Given the description of an element on the screen output the (x, y) to click on. 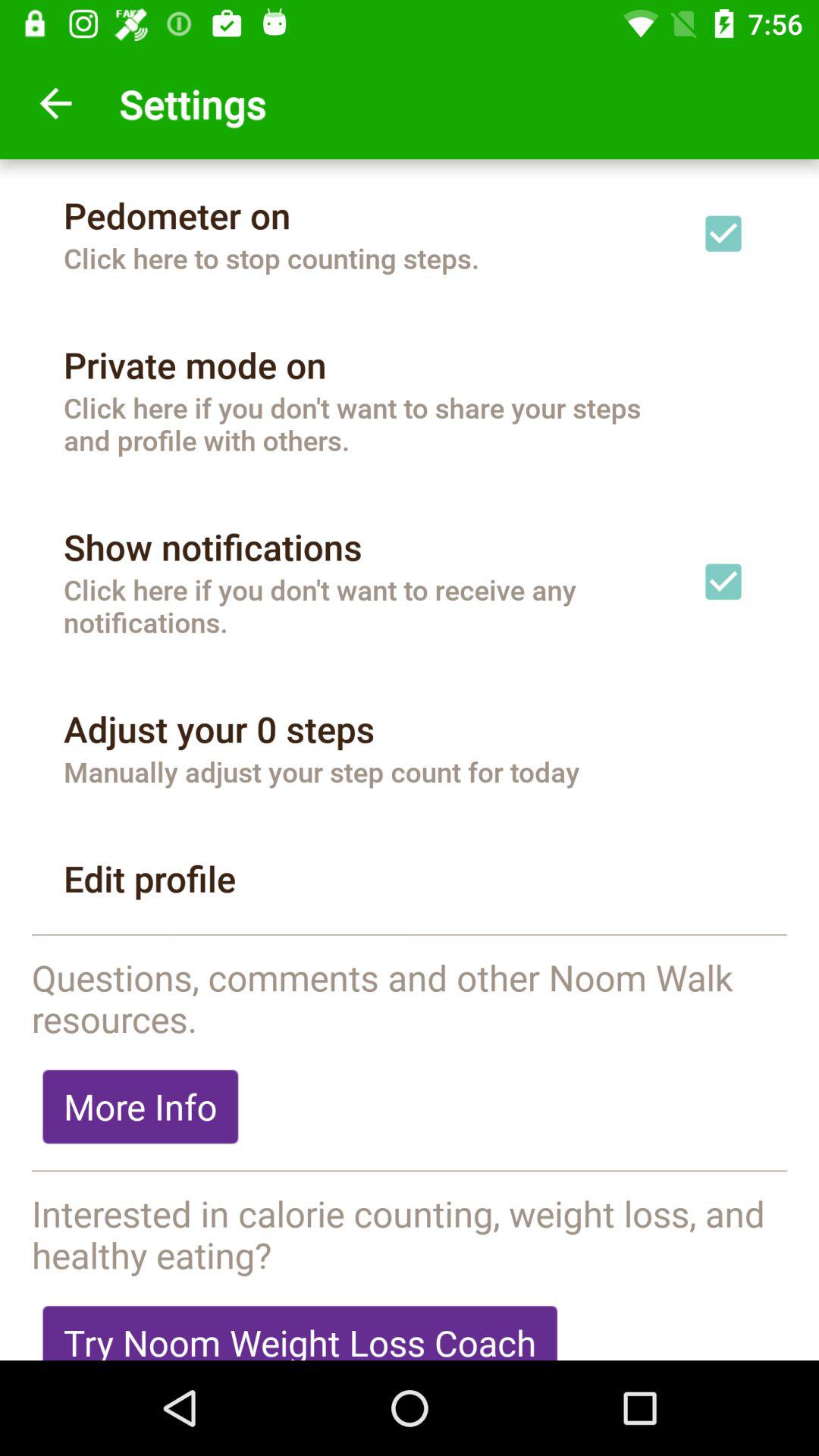
scroll until private mode on item (194, 364)
